Given the description of an element on the screen output the (x, y) to click on. 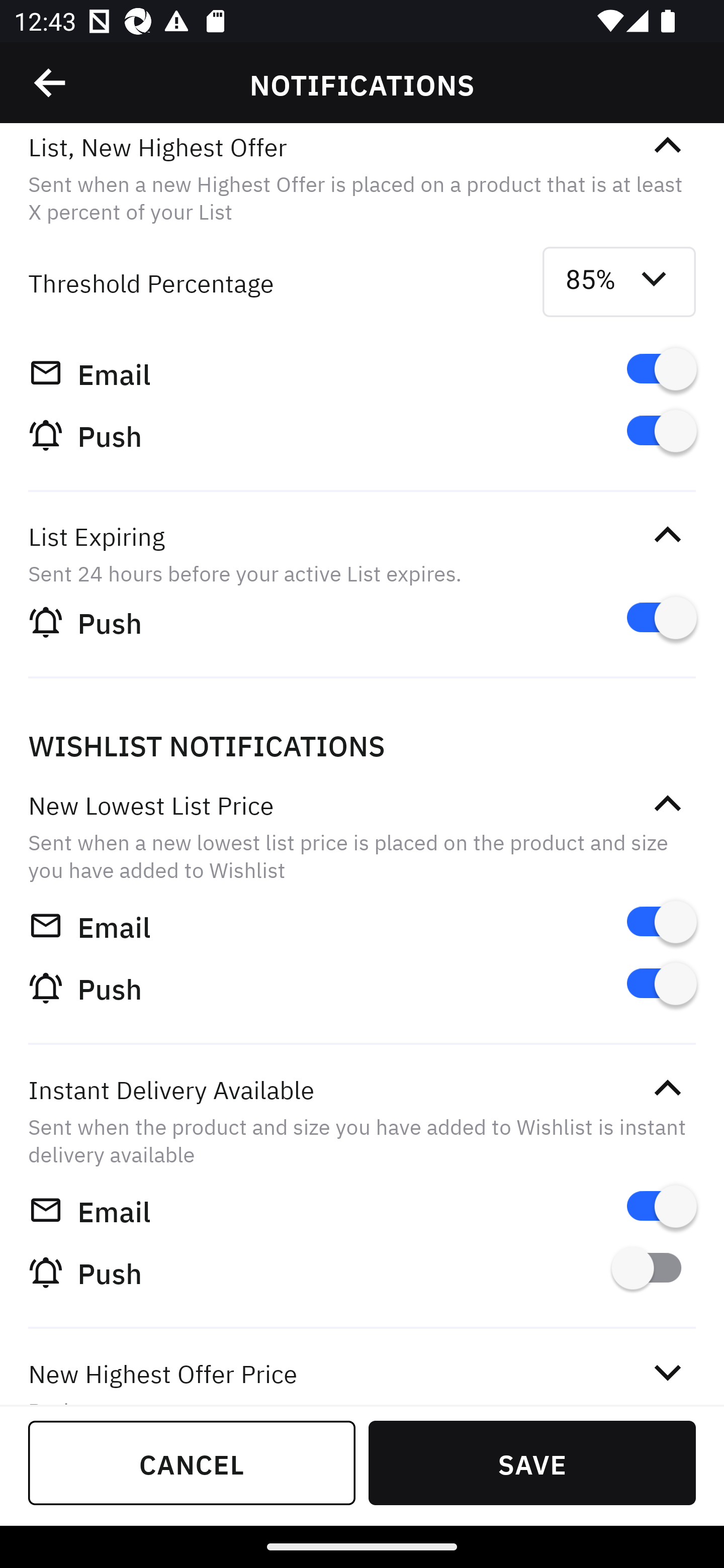
 (50, 83)
 (667, 145)
85%  (619, 282)
 (667, 535)
 (667, 803)
 (667, 1088)
New Highest Offer Price  Push (361, 1368)
 (667, 1372)
CANCEL (191, 1462)
SAVE (531, 1462)
